Given the description of an element on the screen output the (x, y) to click on. 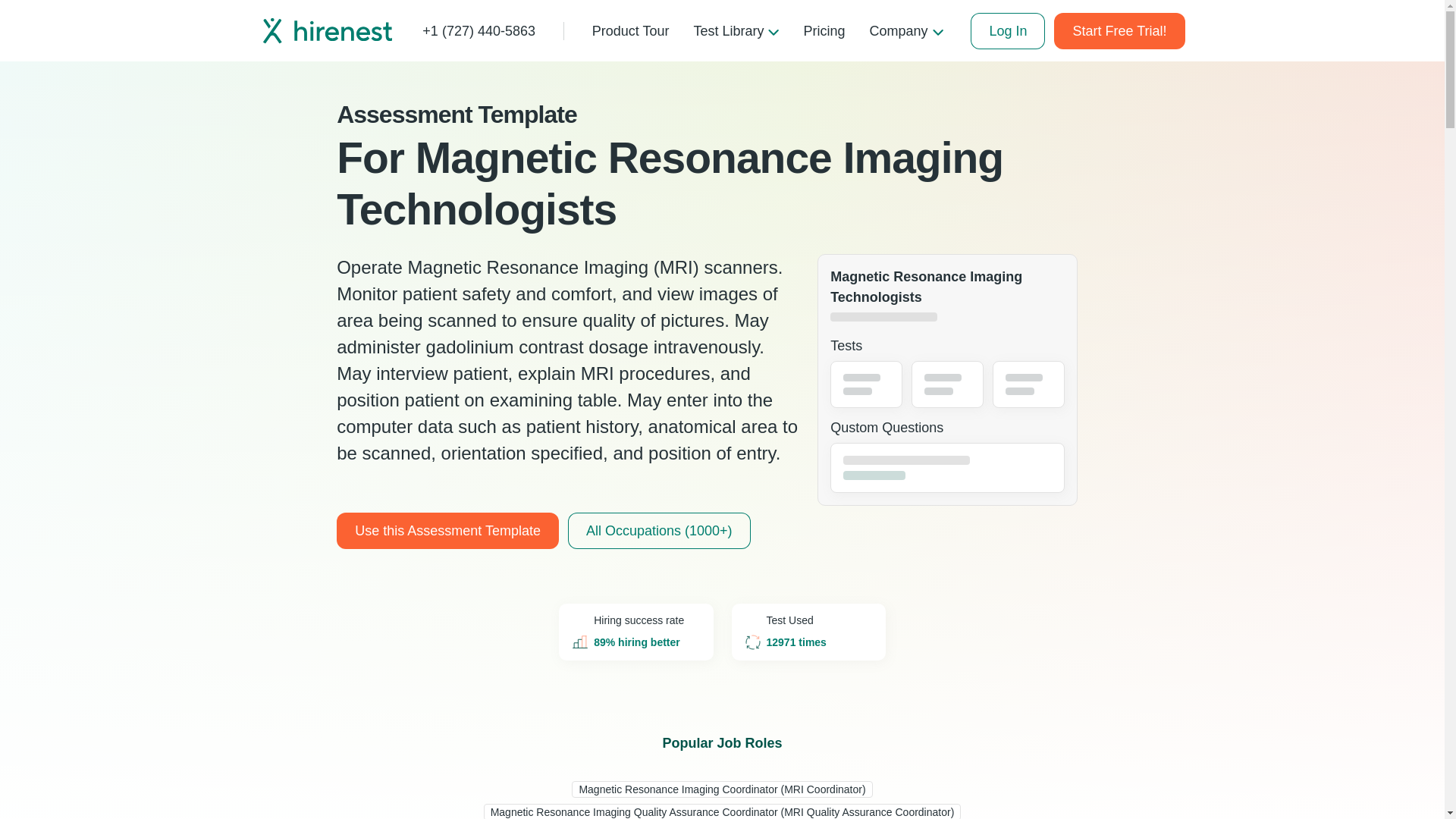
Log In (1008, 31)
Use this Assessment Template (447, 530)
Start Free Trial! (1119, 31)
Pricing (823, 31)
Product Tour (630, 31)
